Given the description of an element on the screen output the (x, y) to click on. 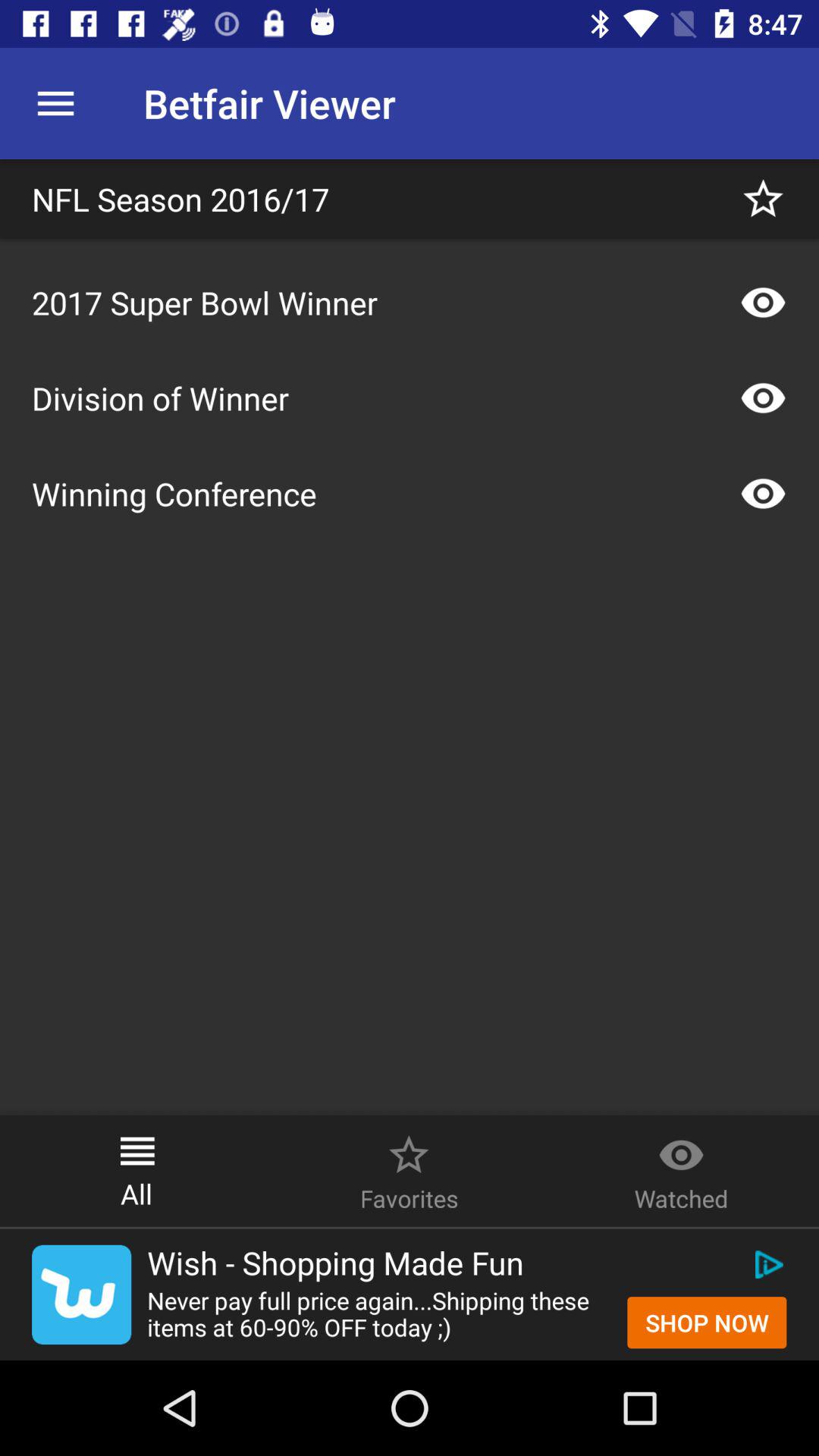
jump until the shop now item (706, 1322)
